Given the description of an element on the screen output the (x, y) to click on. 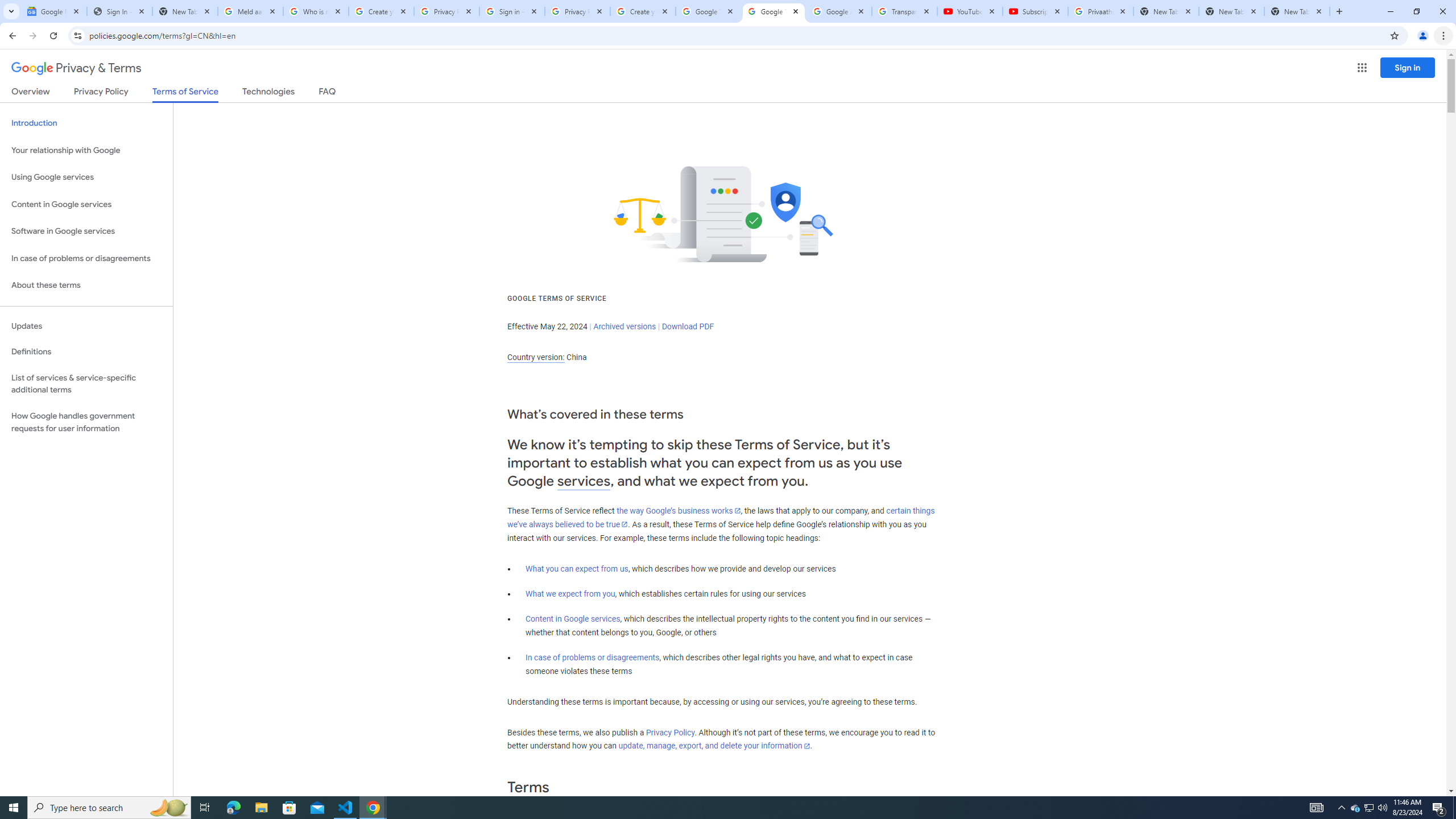
Sign In - USA TODAY (119, 11)
Country version: (535, 357)
Content in Google services (572, 618)
Who is my administrator? - Google Account Help (315, 11)
Sign in - Google Accounts (512, 11)
Subscriptions - YouTube (1035, 11)
Create your Google Account (643, 11)
In case of problems or disagreements (592, 657)
